Given the description of an element on the screen output the (x, y) to click on. 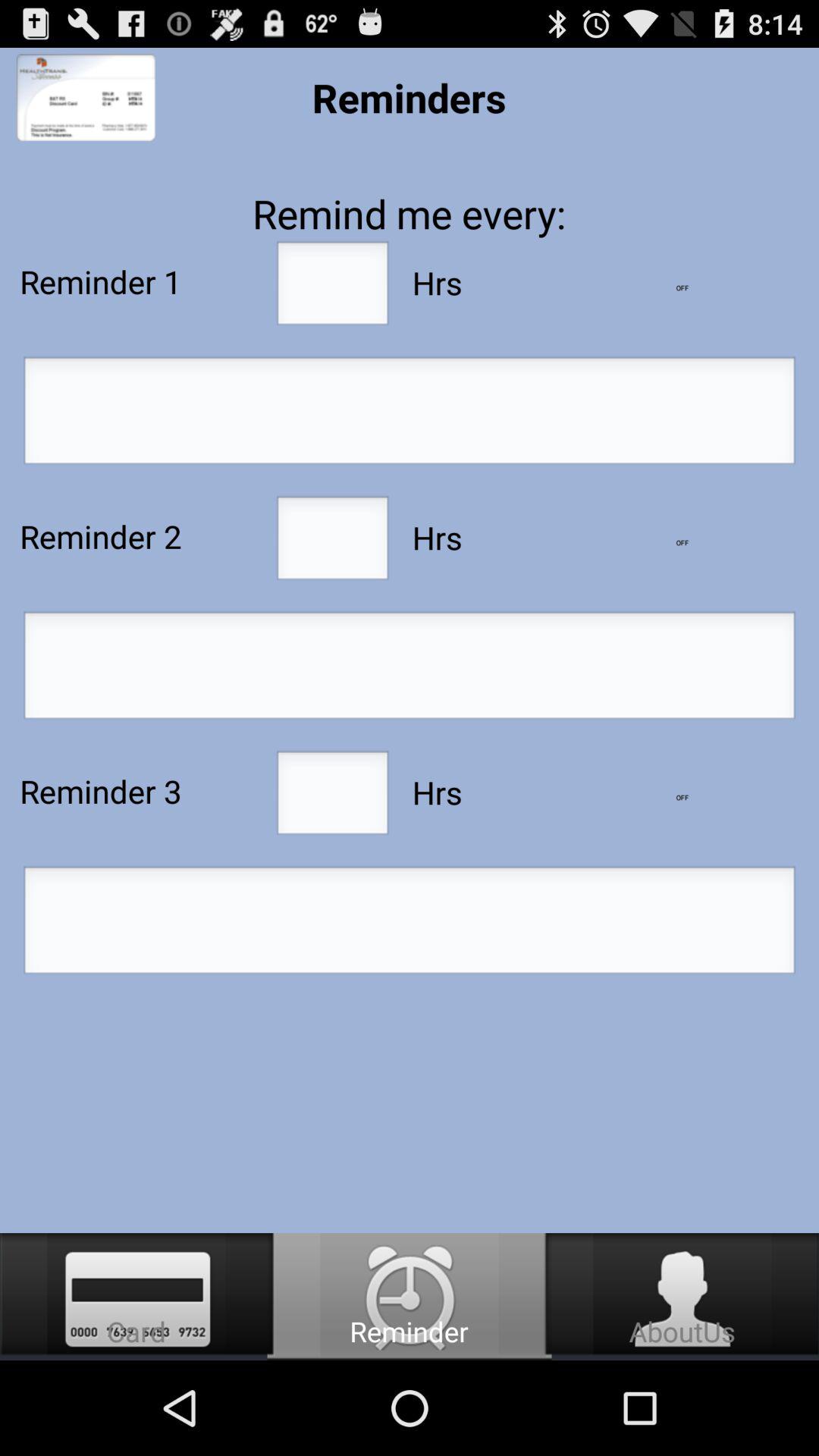
open drop down (682, 542)
